Given the description of an element on the screen output the (x, y) to click on. 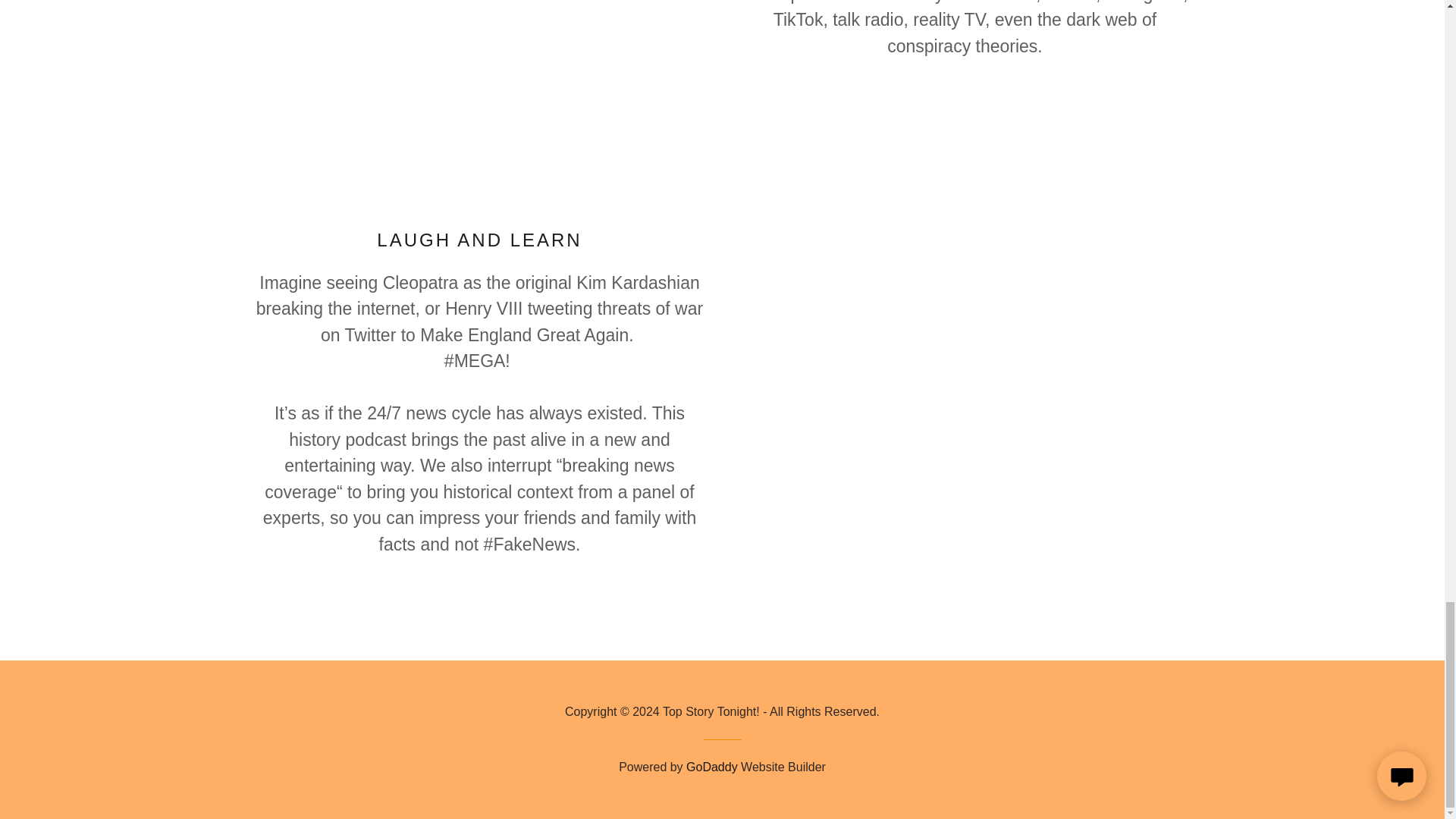
GoDaddy (711, 766)
